Given the description of an element on the screen output the (x, y) to click on. 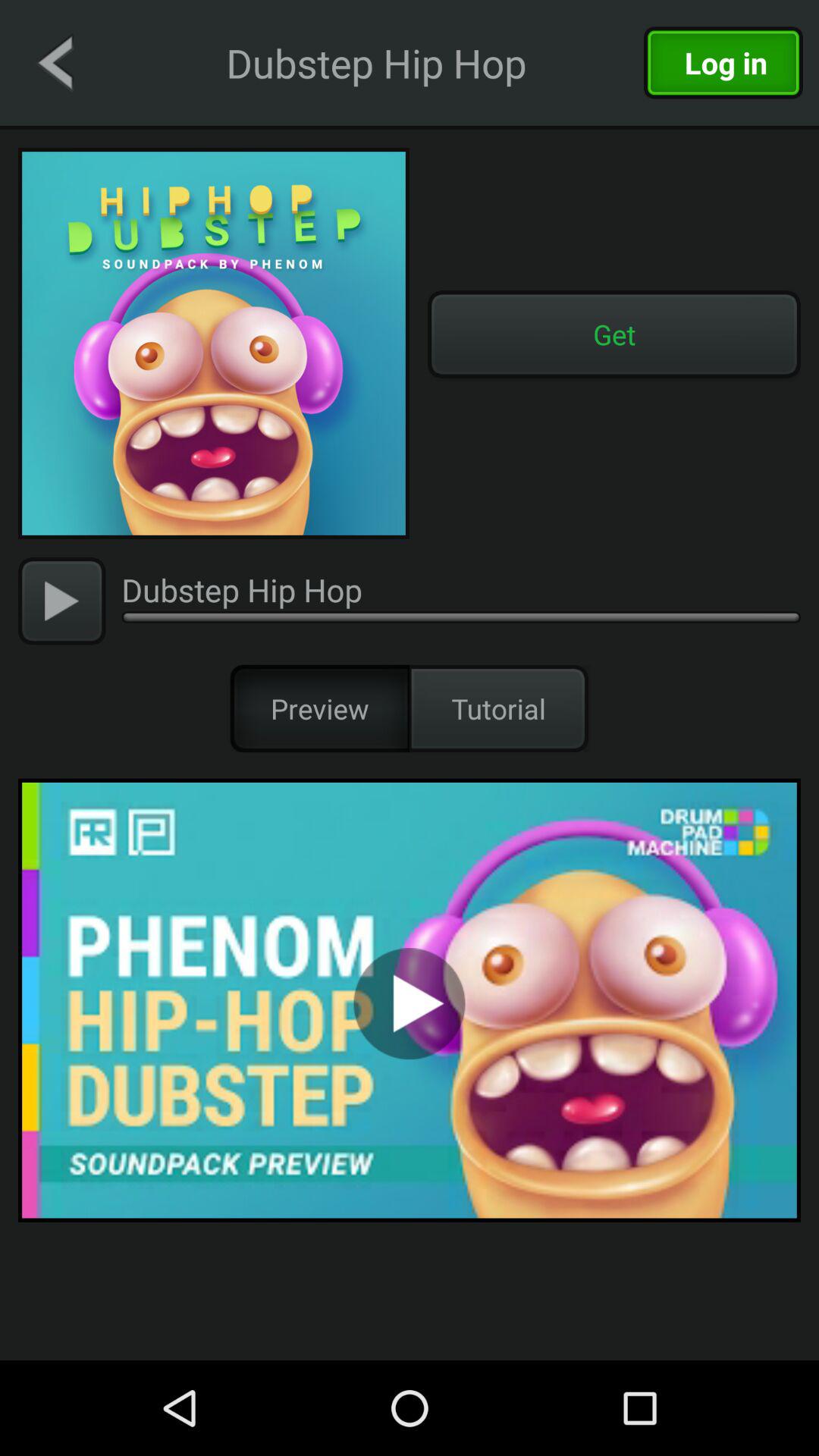
go to previous (54, 62)
